Given the description of an element on the screen output the (x, y) to click on. 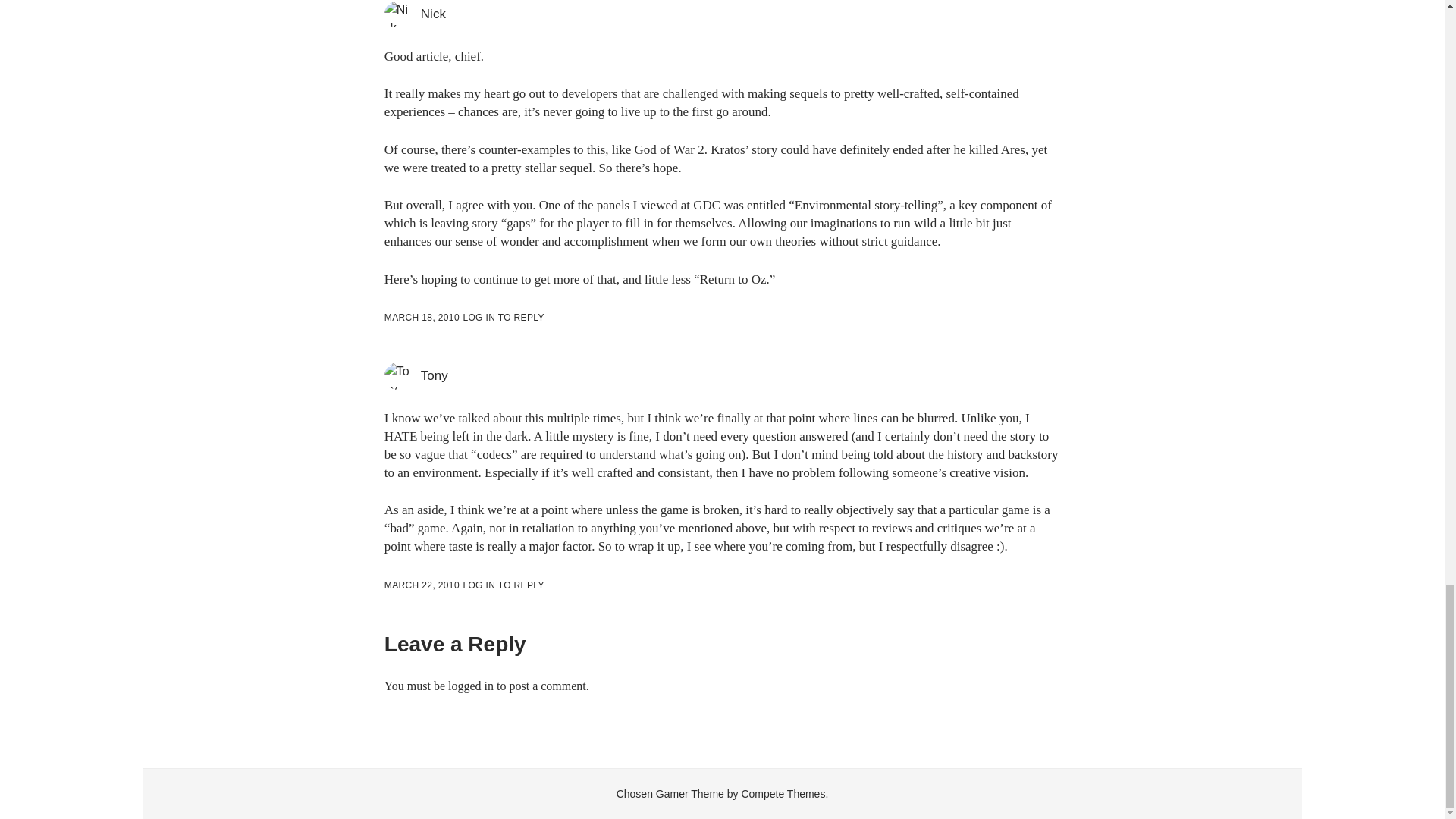
LOG IN TO REPLY (503, 584)
LOG IN TO REPLY (503, 317)
Chosen Gamer Theme (669, 793)
Tony (434, 375)
logged in (470, 685)
Nick (432, 13)
